Given the description of an element on the screen output the (x, y) to click on. 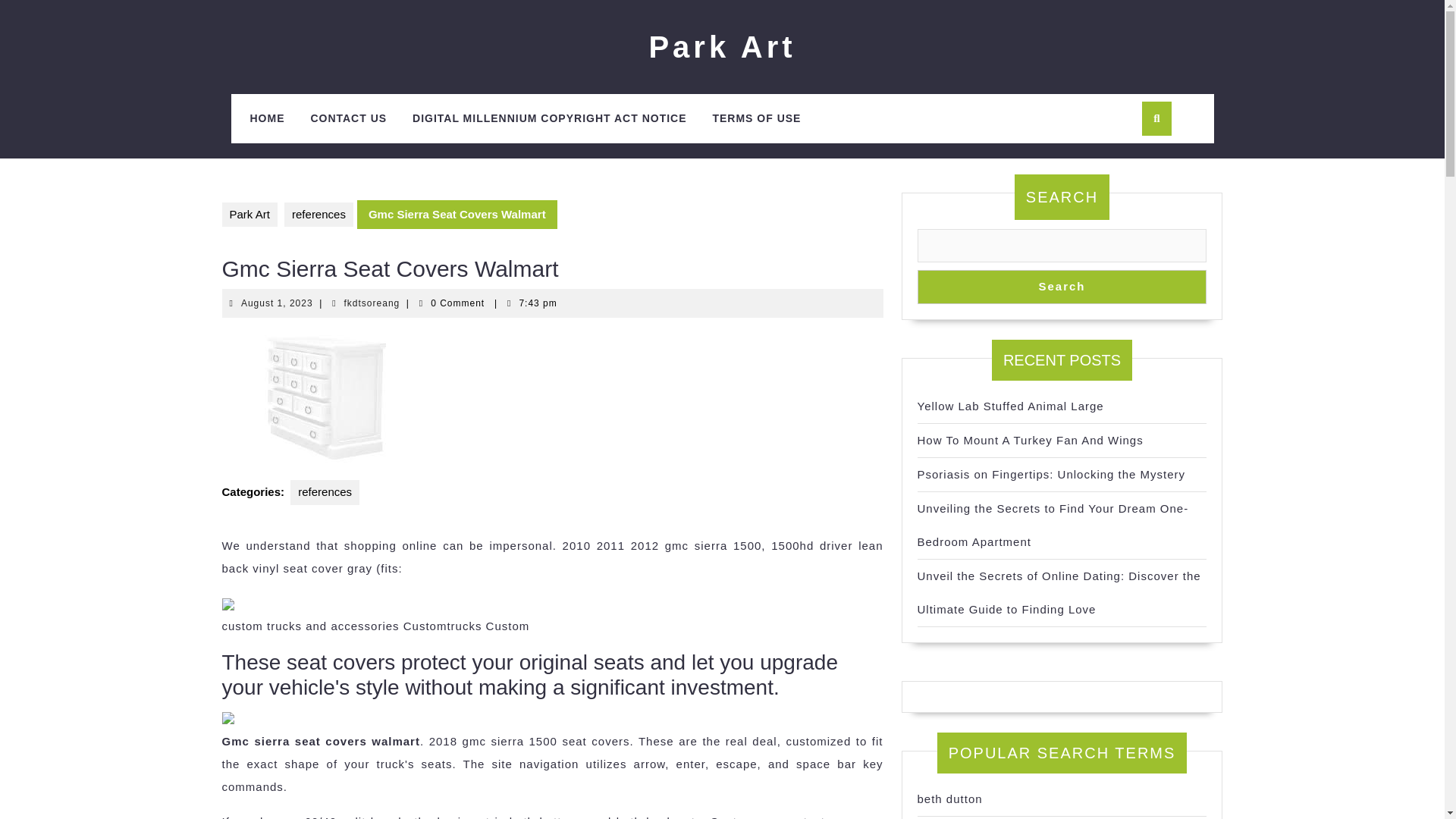
references (318, 214)
Park Art (248, 214)
TERMS OF USE (756, 118)
beth dutton (371, 303)
HOME (949, 798)
CONTACT US (266, 118)
DIGITAL MILLENNIUM COPYRIGHT ACT NOTICE (277, 303)
Search (347, 118)
